Given the description of an element on the screen output the (x, y) to click on. 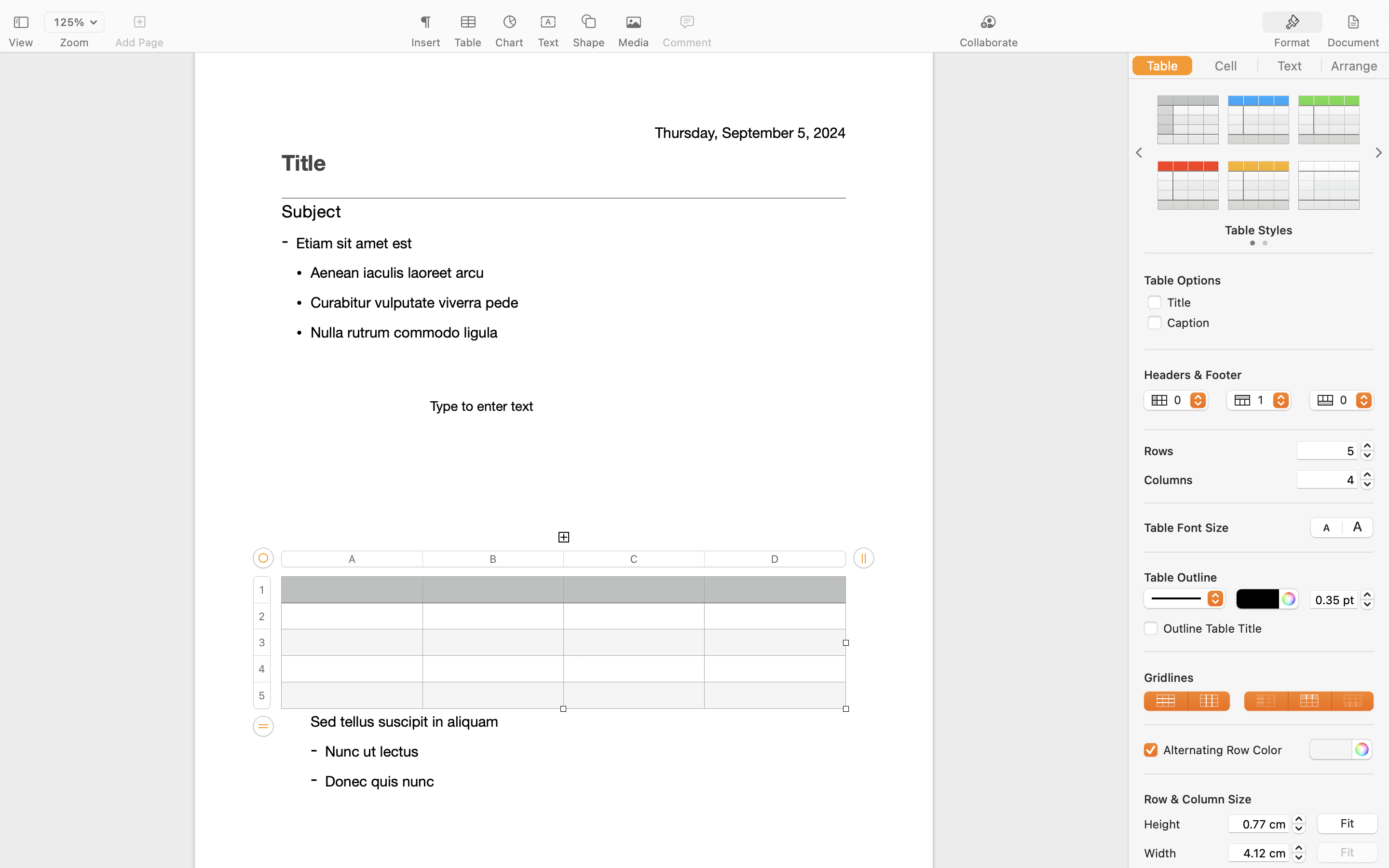
Click to link text boxes together. Element type: AXStaticText (563, 284)
